Given the description of an element on the screen output the (x, y) to click on. 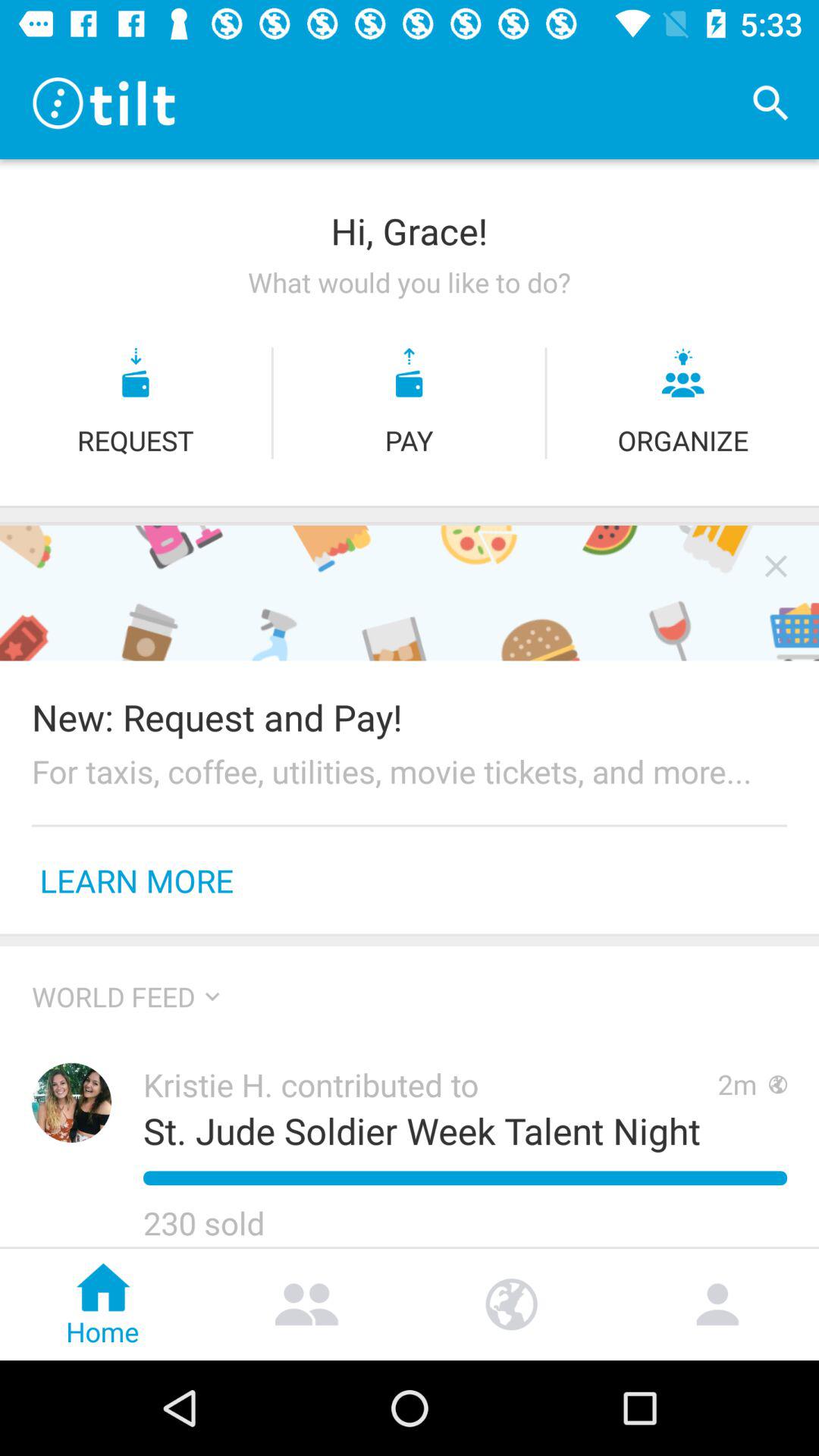
flip to the learn more item (136, 879)
